Given the description of an element on the screen output the (x, y) to click on. 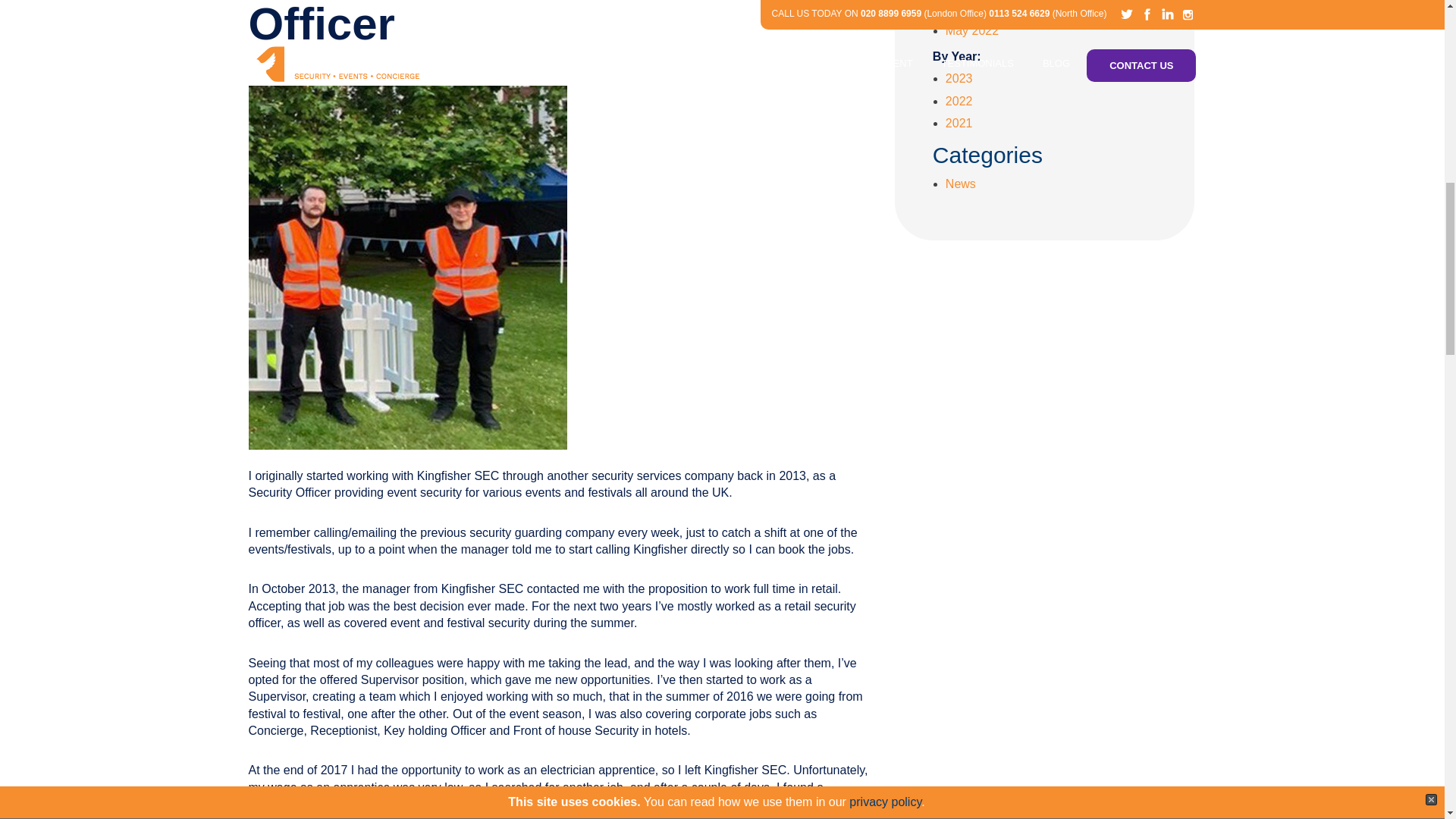
News (959, 183)
March 2023 (977, 8)
2021 (958, 123)
May 2022 (971, 30)
2022 (958, 101)
2023 (958, 78)
